Given the description of an element on the screen output the (x, y) to click on. 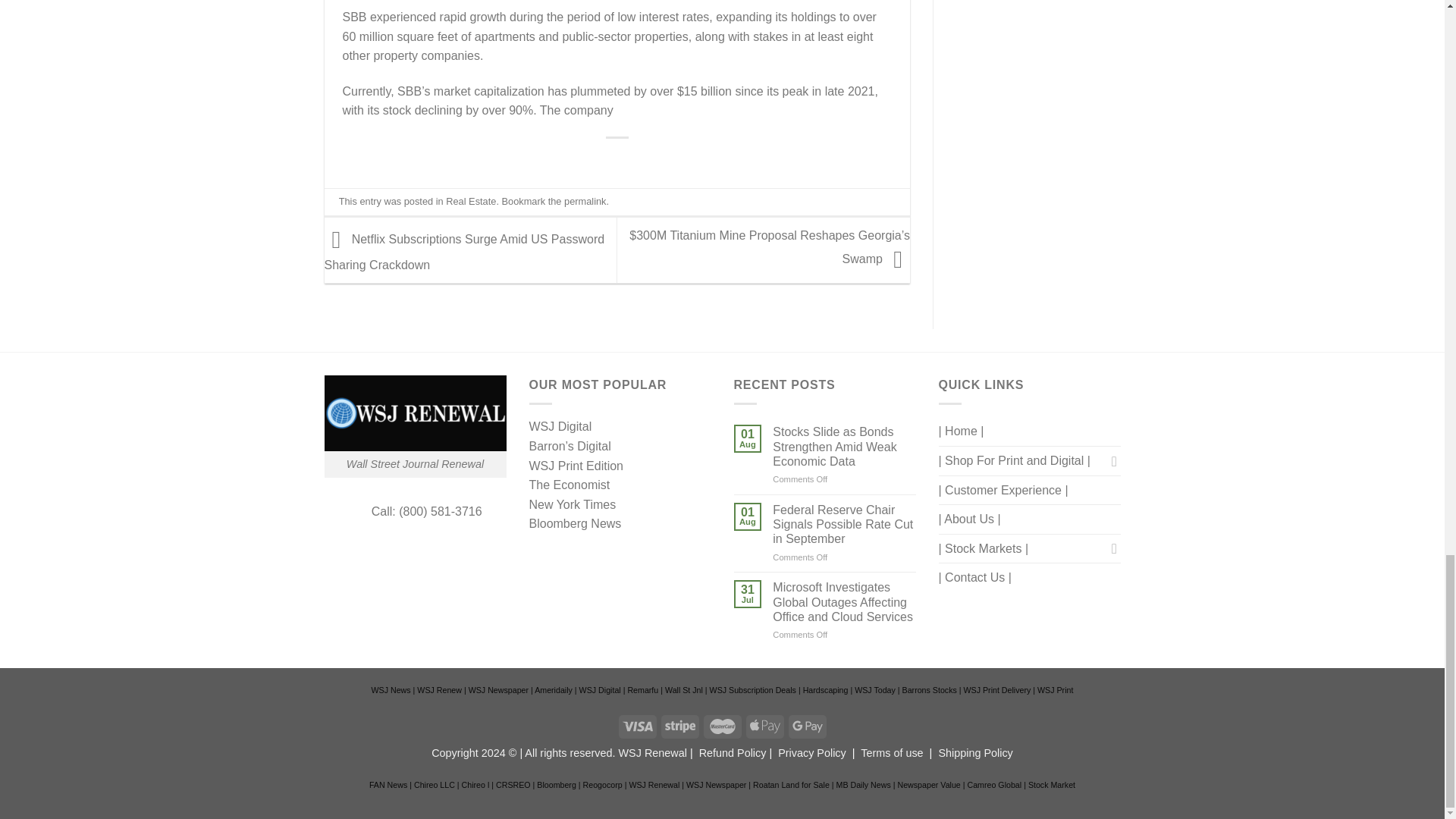
Federal Reserve Chair Signals Possible Rate Cut in September (844, 524)
Stocks Slide as Bonds Strengthen Amid Weak Economic Data (844, 446)
